Given the description of an element on the screen output the (x, y) to click on. 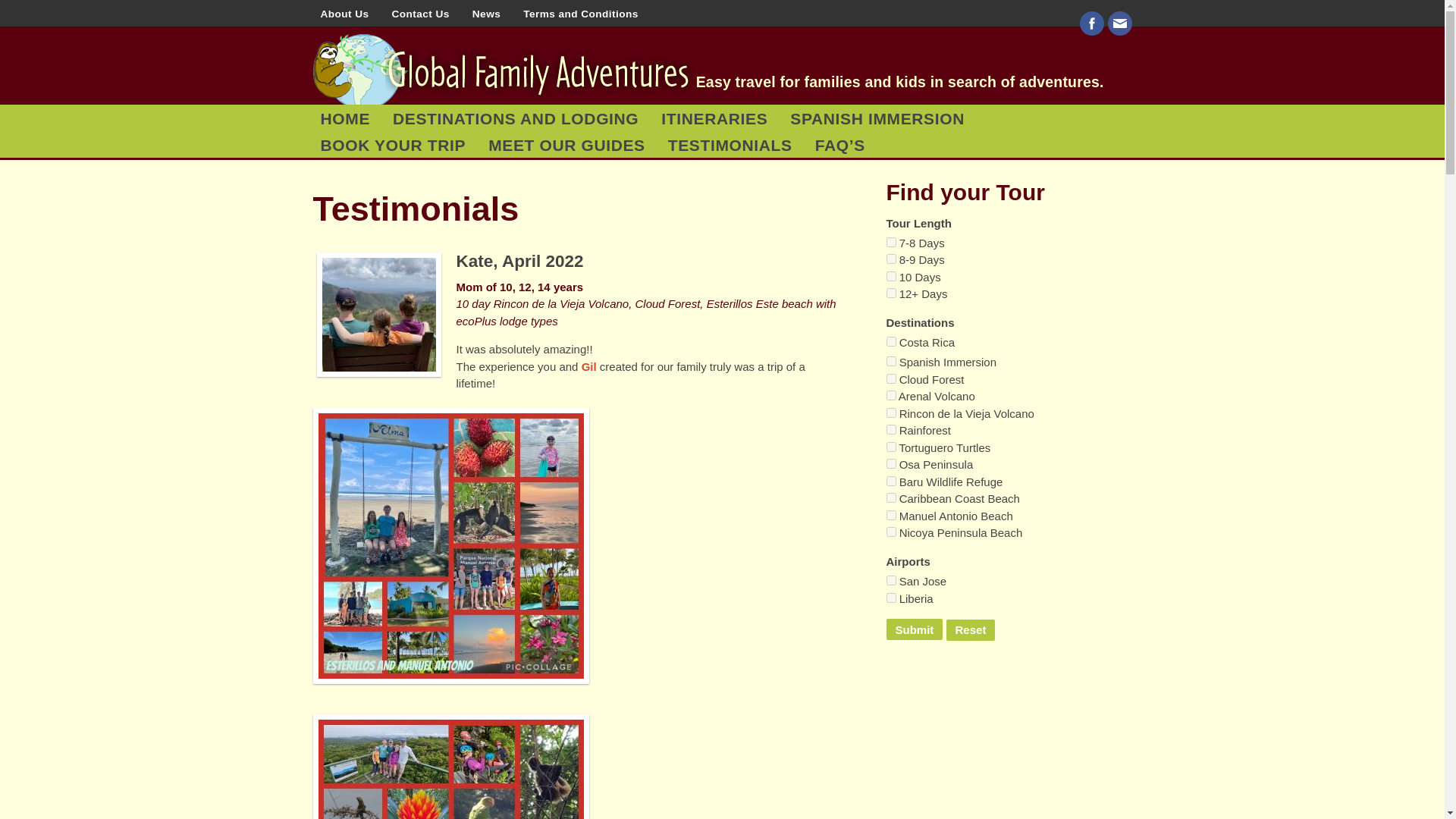
SPANISH IMMERSION (877, 117)
DESTINATIONS AND LODGING (515, 117)
Submit (913, 629)
HOME (345, 117)
Contact Us (420, 13)
TESTIMONIALS (730, 144)
Email (1118, 23)
23 (890, 532)
ITINERARIES (713, 117)
25 (890, 412)
News (486, 13)
Terms and Conditions (580, 13)
22 (890, 497)
Kate, April 2022 (520, 261)
13 (890, 395)
